Given the description of an element on the screen output the (x, y) to click on. 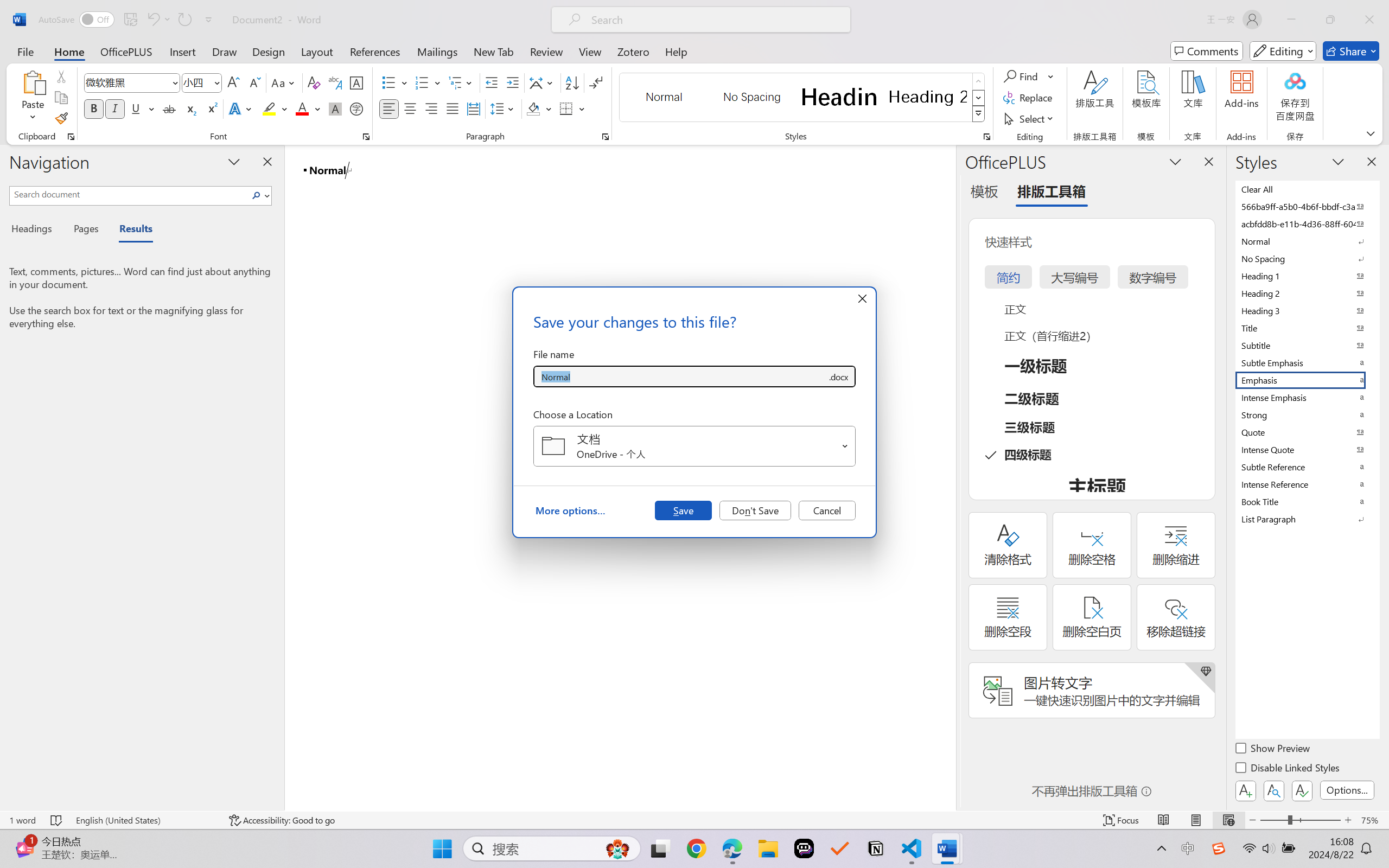
Styles (978, 113)
Font Size (196, 82)
Sort... (571, 82)
Superscript (210, 108)
Character Border (356, 82)
Pages (85, 229)
Accessibility Checker Accessibility: Good to go (282, 819)
Text Effects and Typography (241, 108)
Notion (875, 848)
